Given the description of an element on the screen output the (x, y) to click on. 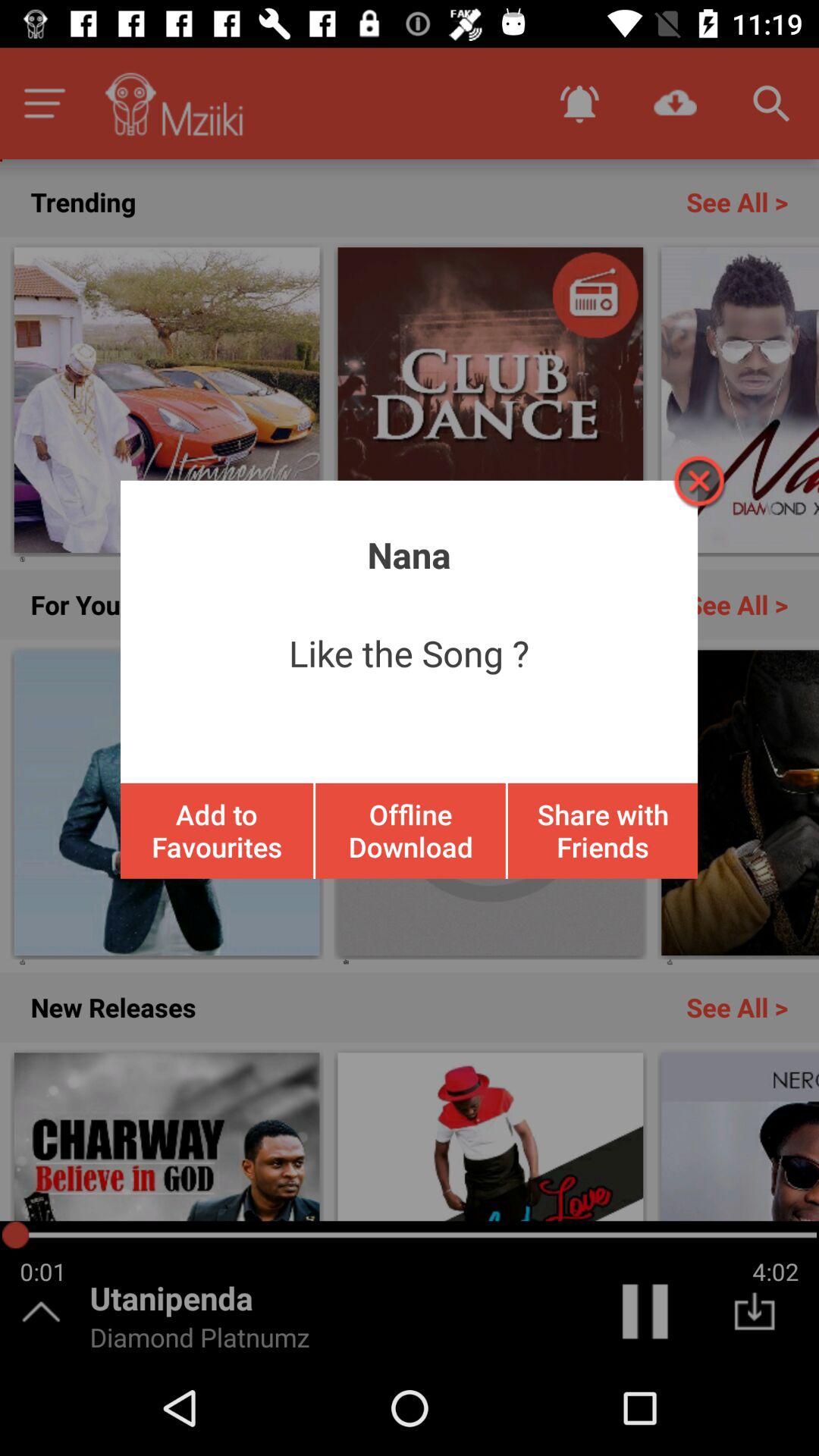
close dialogue box (698, 480)
